Given the description of an element on the screen output the (x, y) to click on. 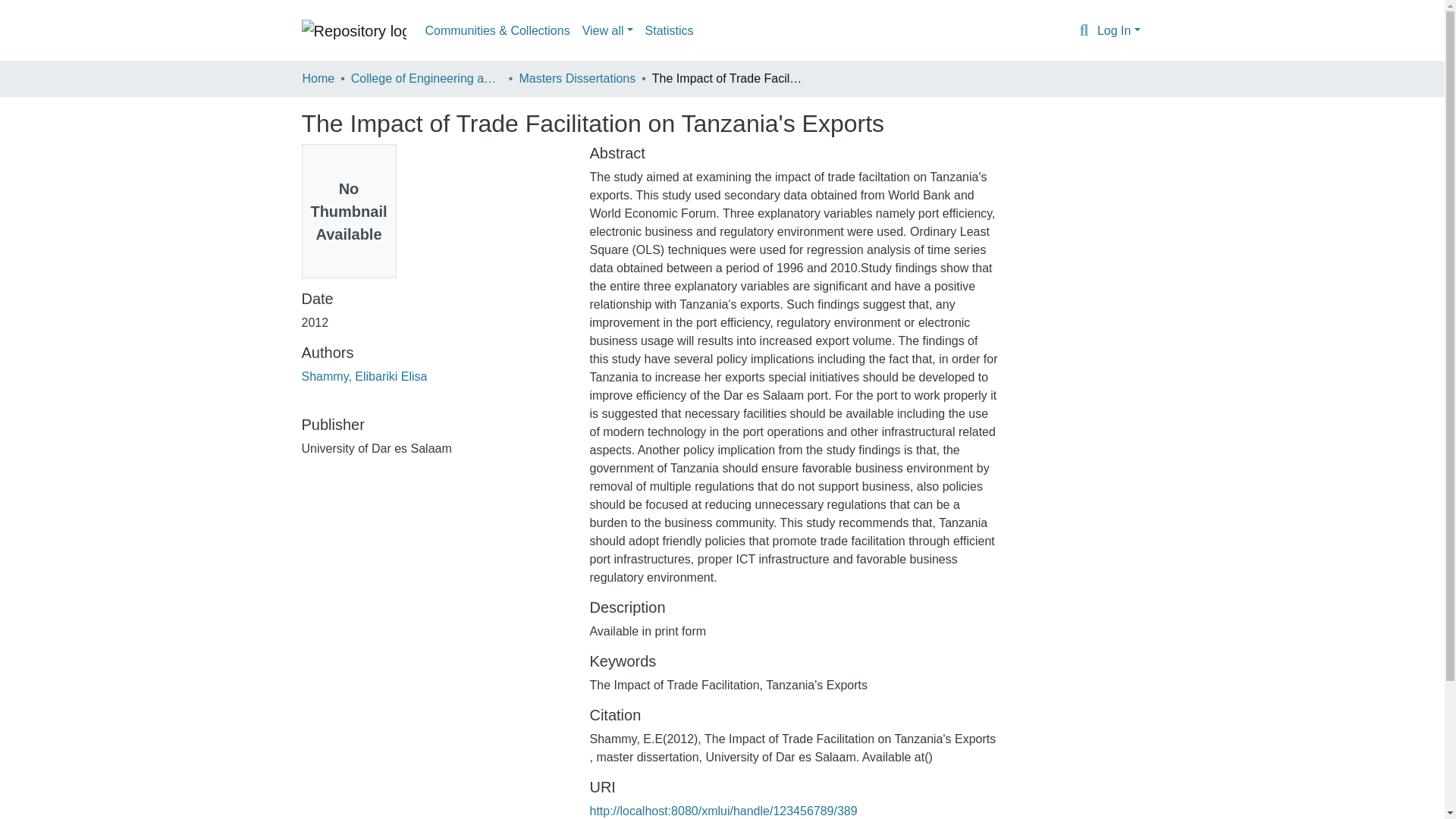
Statistics (669, 30)
Home (317, 78)
View all (607, 30)
Masters Dissertations (576, 78)
Log In (1118, 30)
College of Engineering and Technology (426, 78)
Shammy, Elibariki Elisa (364, 376)
Statistics (669, 30)
Search (1084, 30)
